Given the description of an element on the screen output the (x, y) to click on. 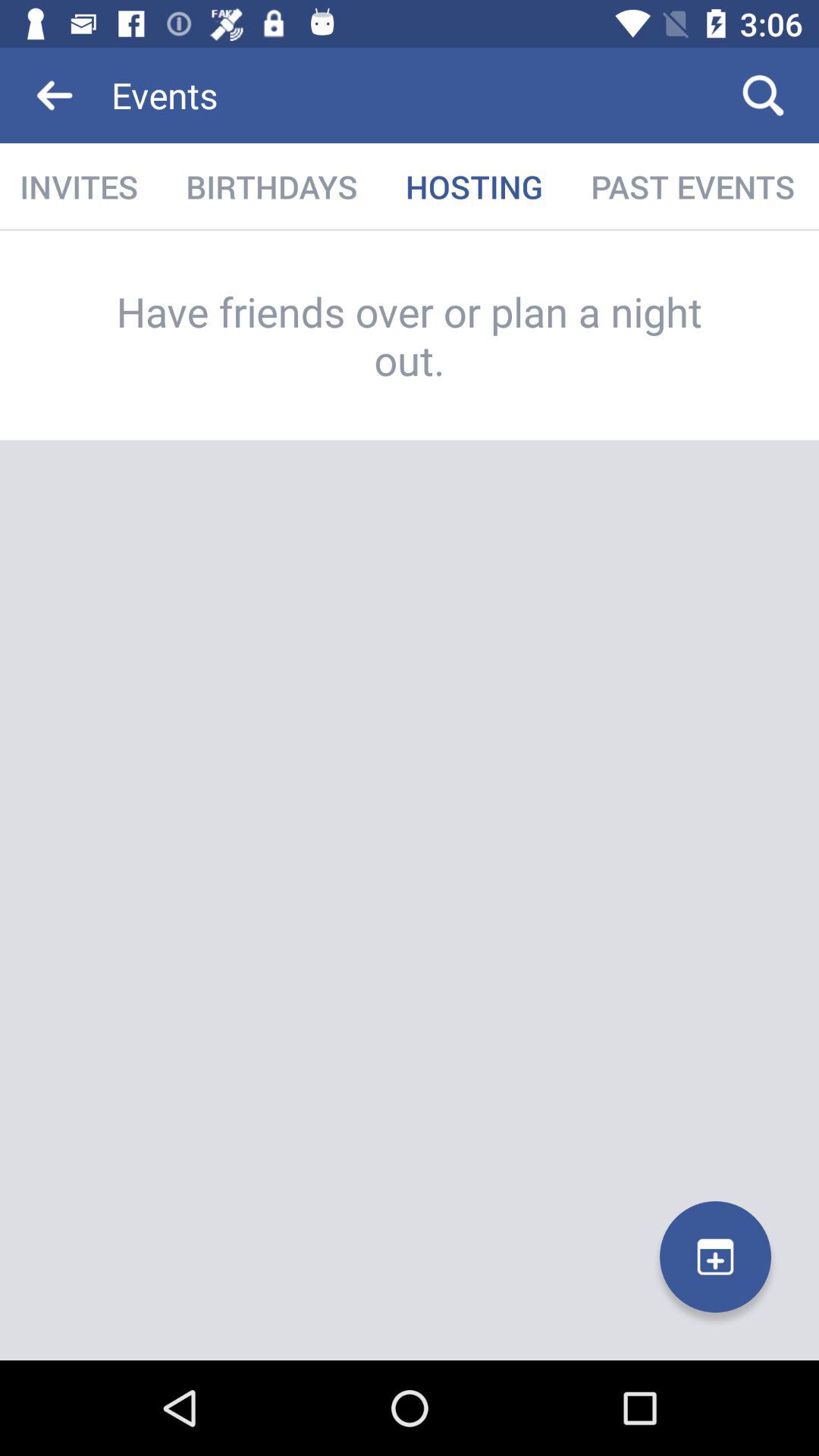
choose the item to the left of the birthdays icon (81, 186)
